Given the description of an element on the screen output the (x, y) to click on. 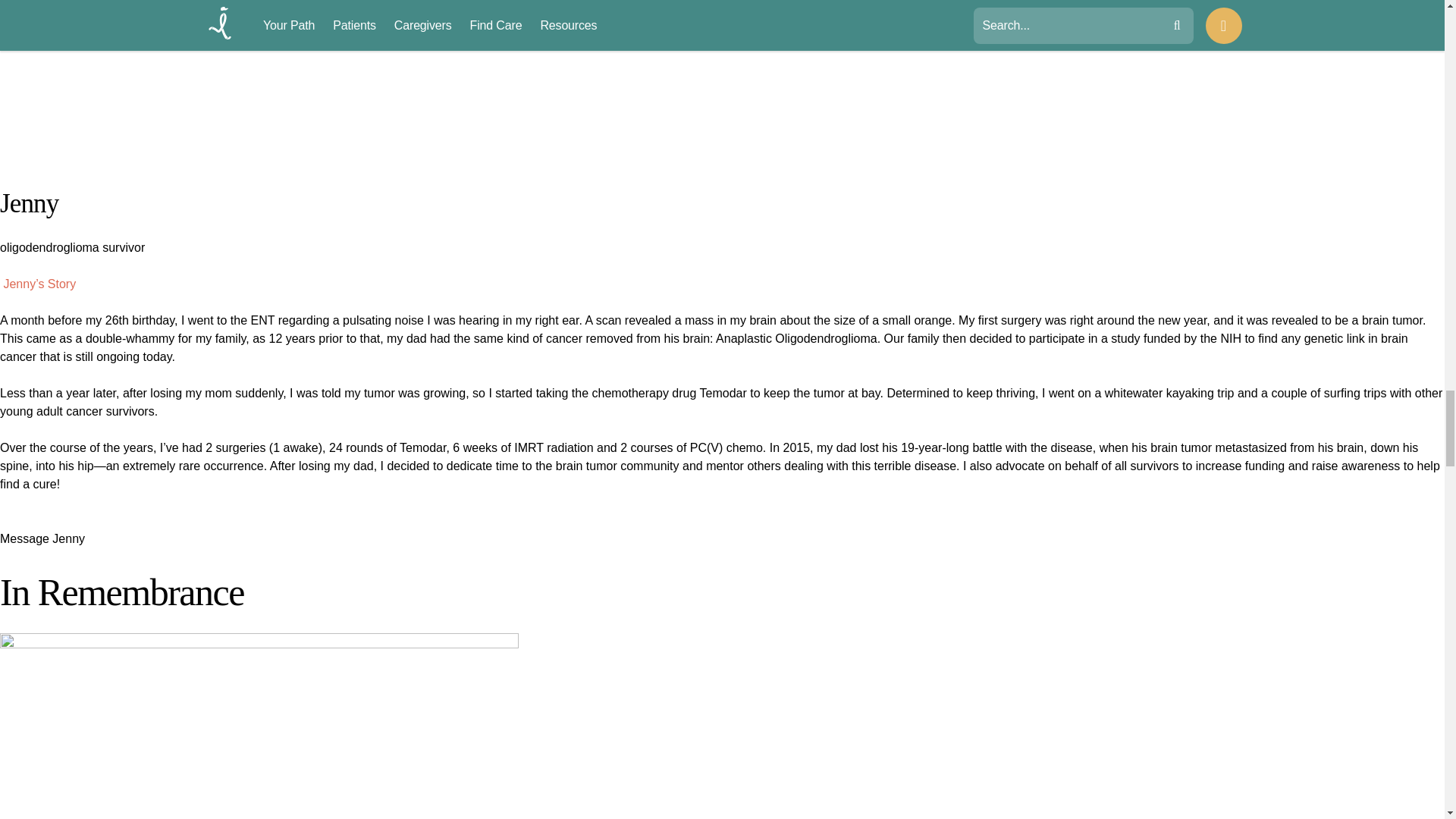
Message Jenny (42, 547)
